Given the description of an element on the screen output the (x, y) to click on. 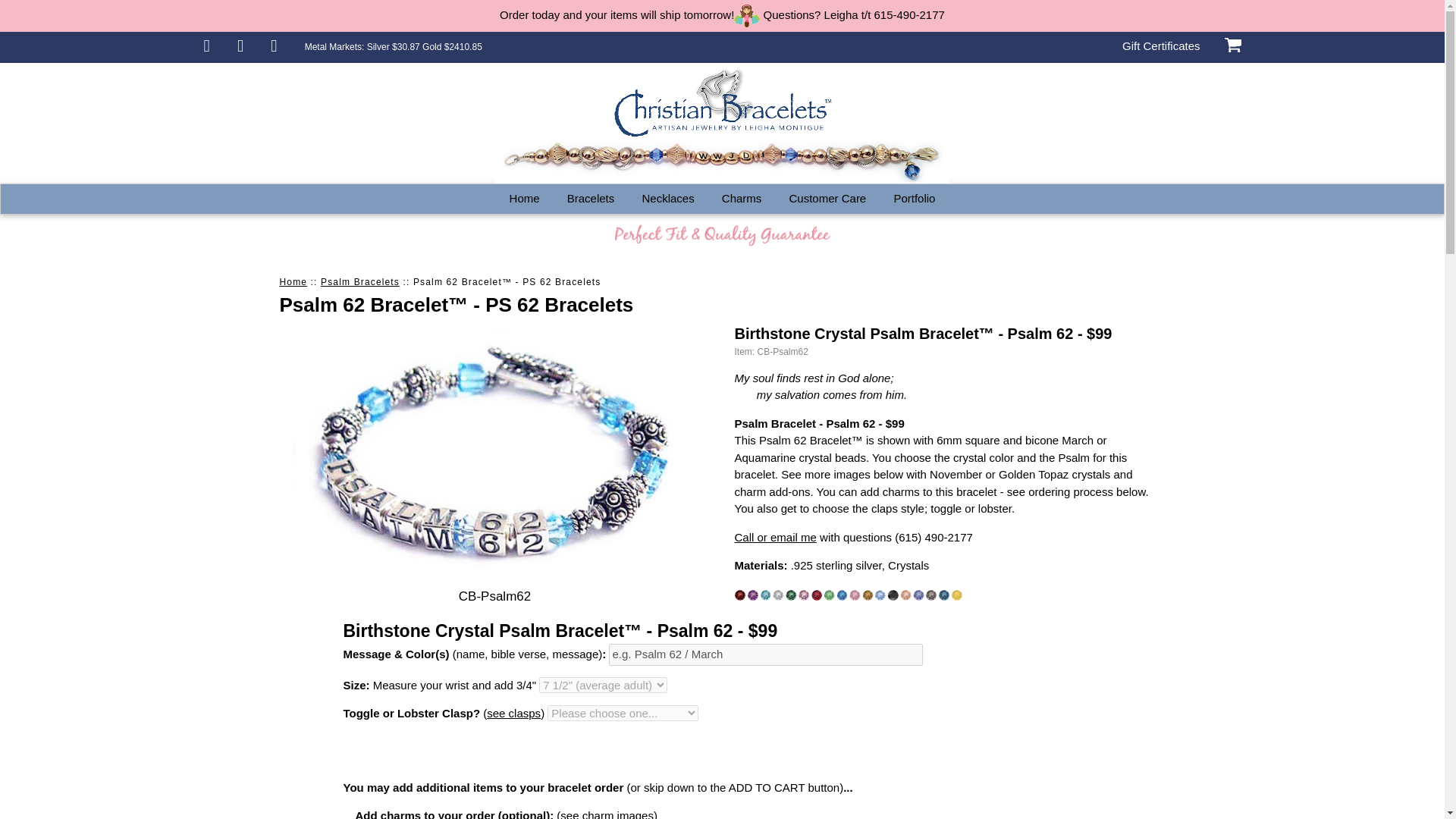
Call or email me (774, 536)
WWJD Bracelet - gold and blue crystals (722, 161)
Necklaces (667, 198)
Bracelets (590, 198)
Shipping Options (393, 46)
Customer Care (828, 198)
Shipping Options (273, 47)
Gift Certificates (1160, 46)
Psalm Bracelets (359, 281)
Home (524, 198)
